Given the description of an element on the screen output the (x, y) to click on. 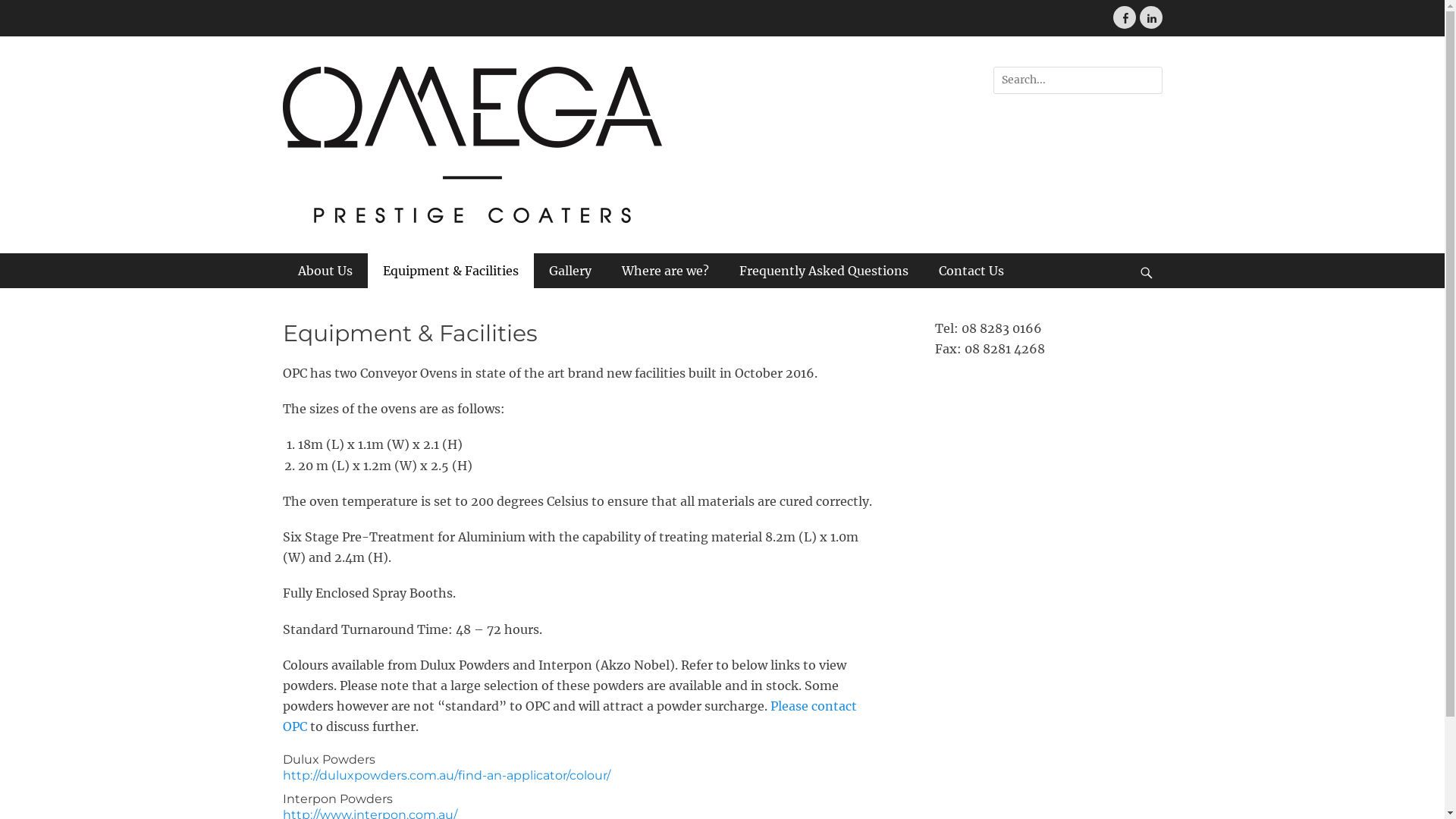
Search for: Element type: hover (1077, 80)
Where are we? Element type: text (665, 270)
Frequently Asked Questions Element type: text (822, 270)
Contact Us Element type: text (971, 270)
LinkedIn Element type: text (1150, 17)
Equipment & Facilities Element type: text (450, 270)
Search Element type: text (25, 9)
http://duluxpowders.com.au/find-an-applicator/colour/ Element type: text (445, 775)
Facebook Element type: text (1124, 17)
About Us Element type: text (324, 270)
Gallery Element type: text (569, 270)
Please contact OPC Element type: text (569, 716)
Search Element type: text (1152, 252)
